Given the description of an element on the screen output the (x, y) to click on. 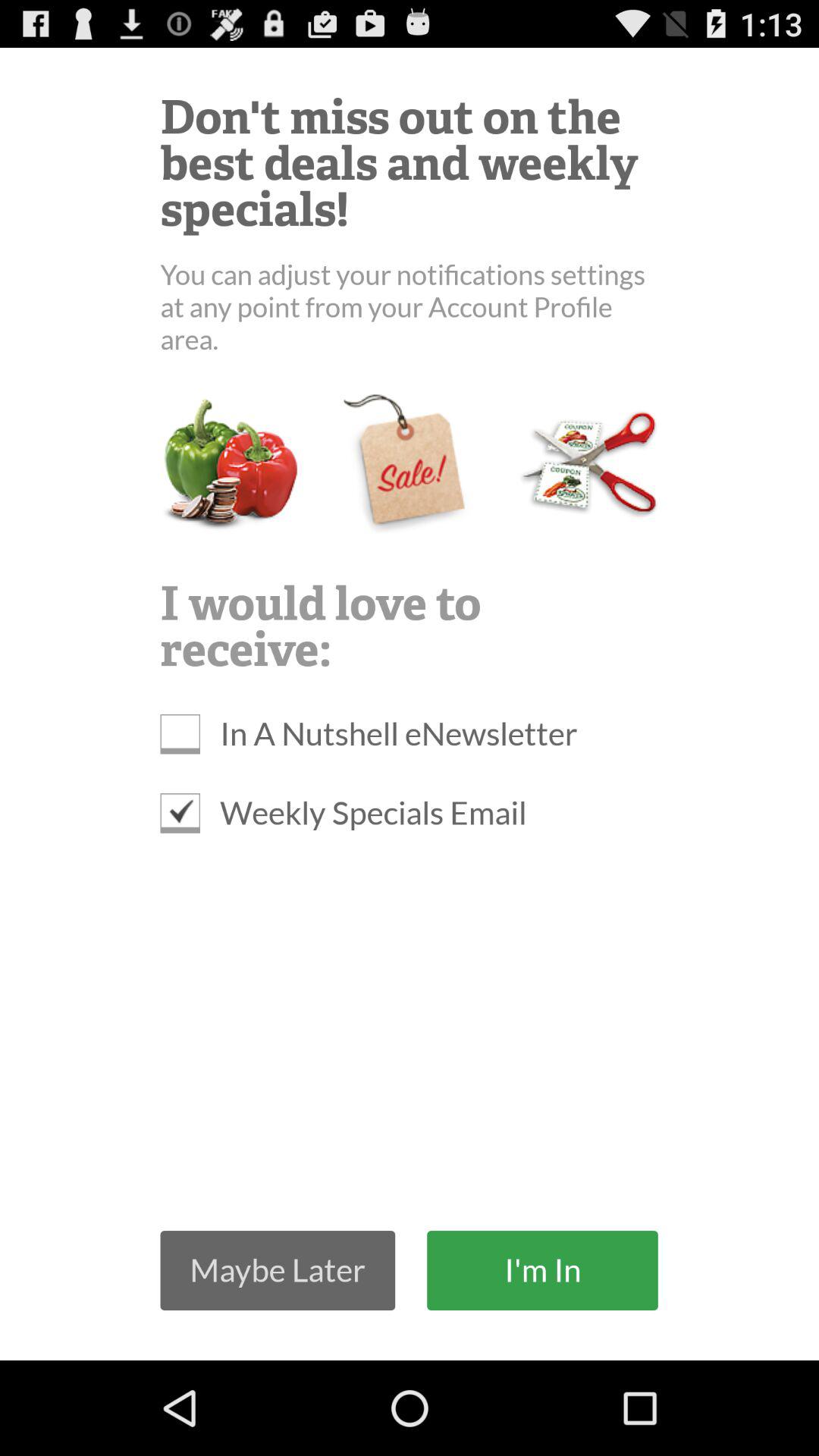
open the item below weekly specials email (542, 1270)
